Given the description of an element on the screen output the (x, y) to click on. 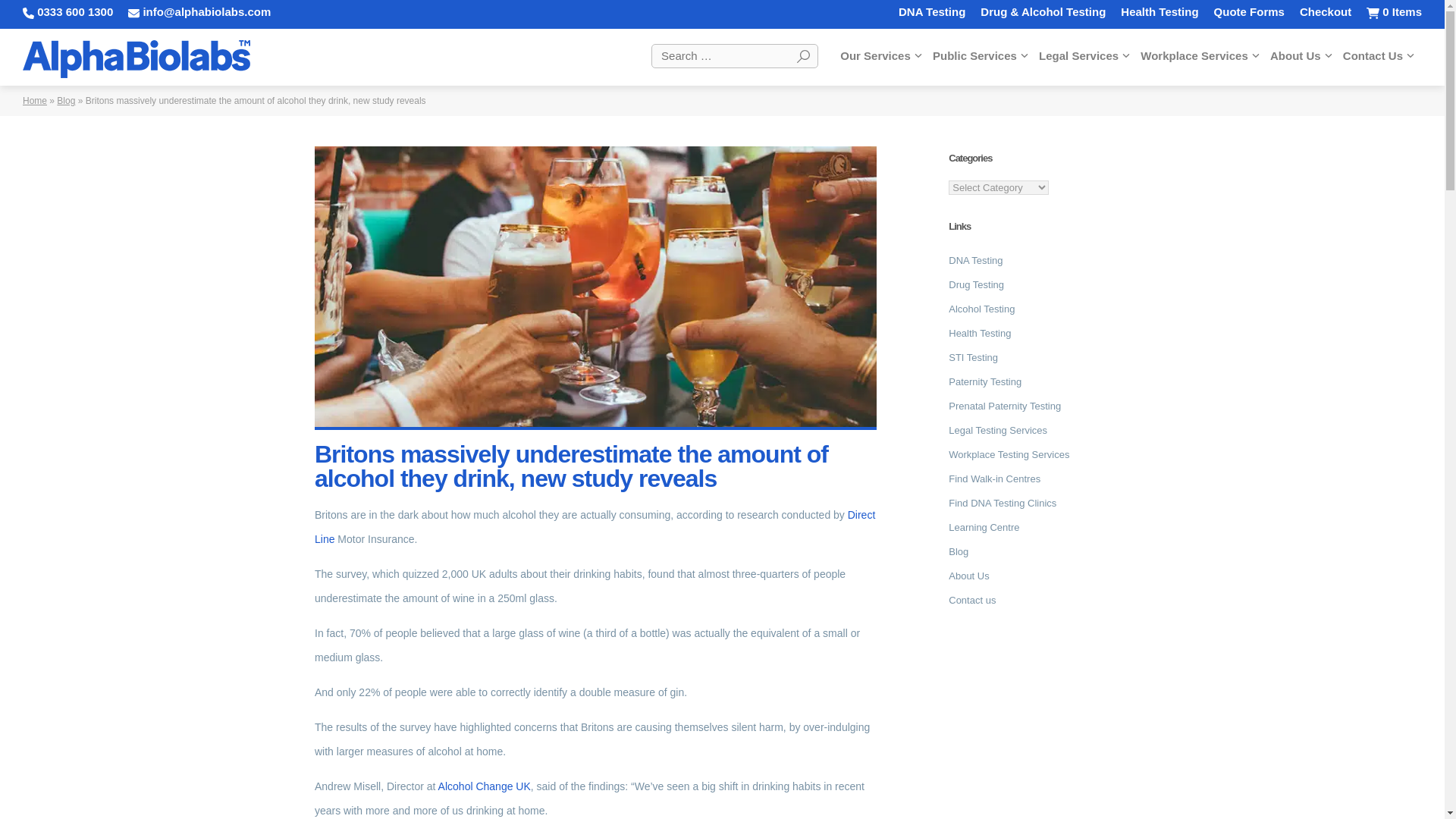
DNA Testing (931, 11)
 0 Items (1394, 11)
Health Testing (1159, 11)
Checkout (1325, 11)
Public Services (980, 55)
Our Services (880, 55)
Search for: (734, 55)
Quote Forms (1249, 11)
0333 600 1300 (68, 11)
